Given the description of an element on the screen output the (x, y) to click on. 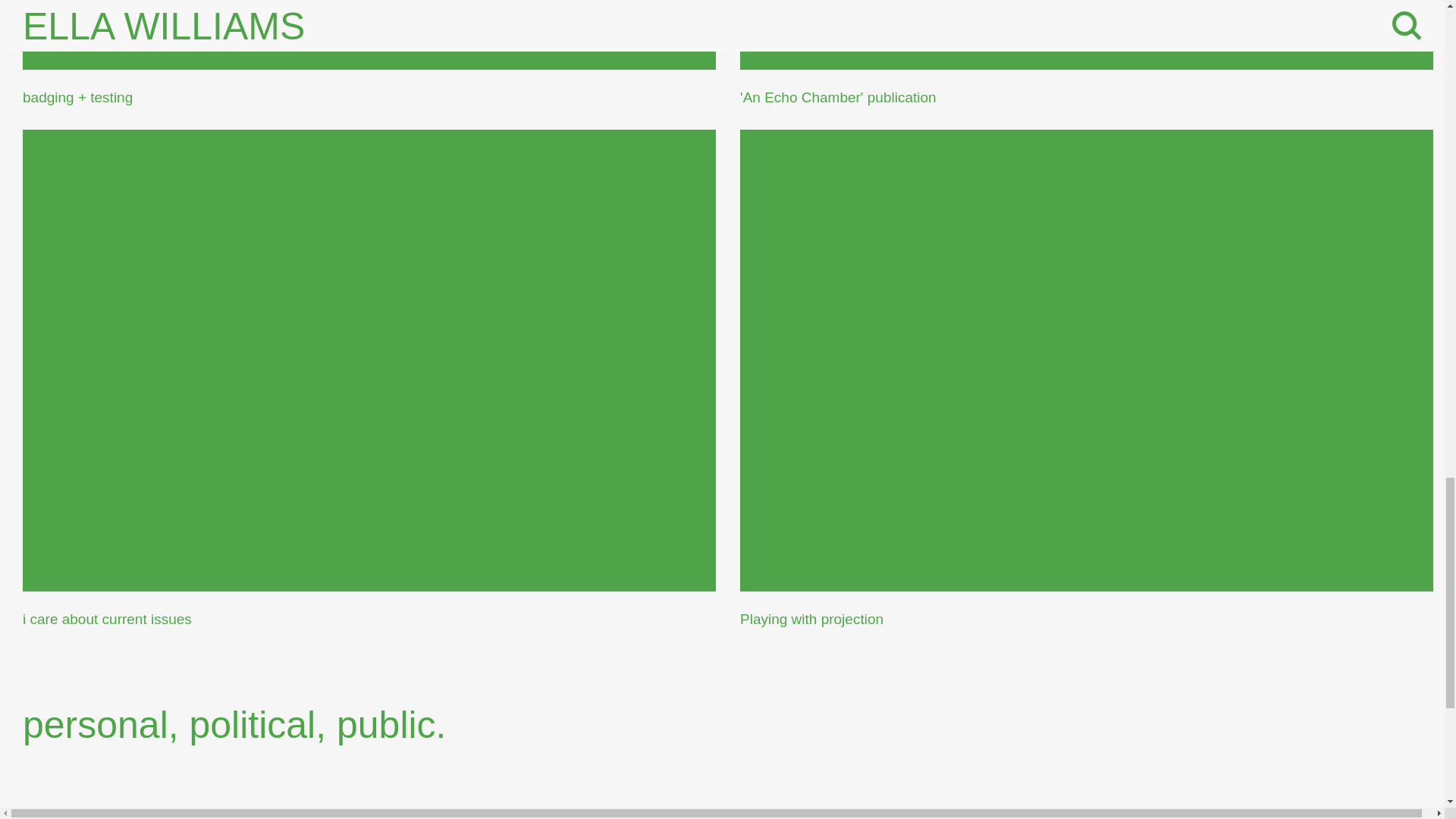
'An Echo Chamber' publication (1085, 53)
